Given the description of an element on the screen output the (x, y) to click on. 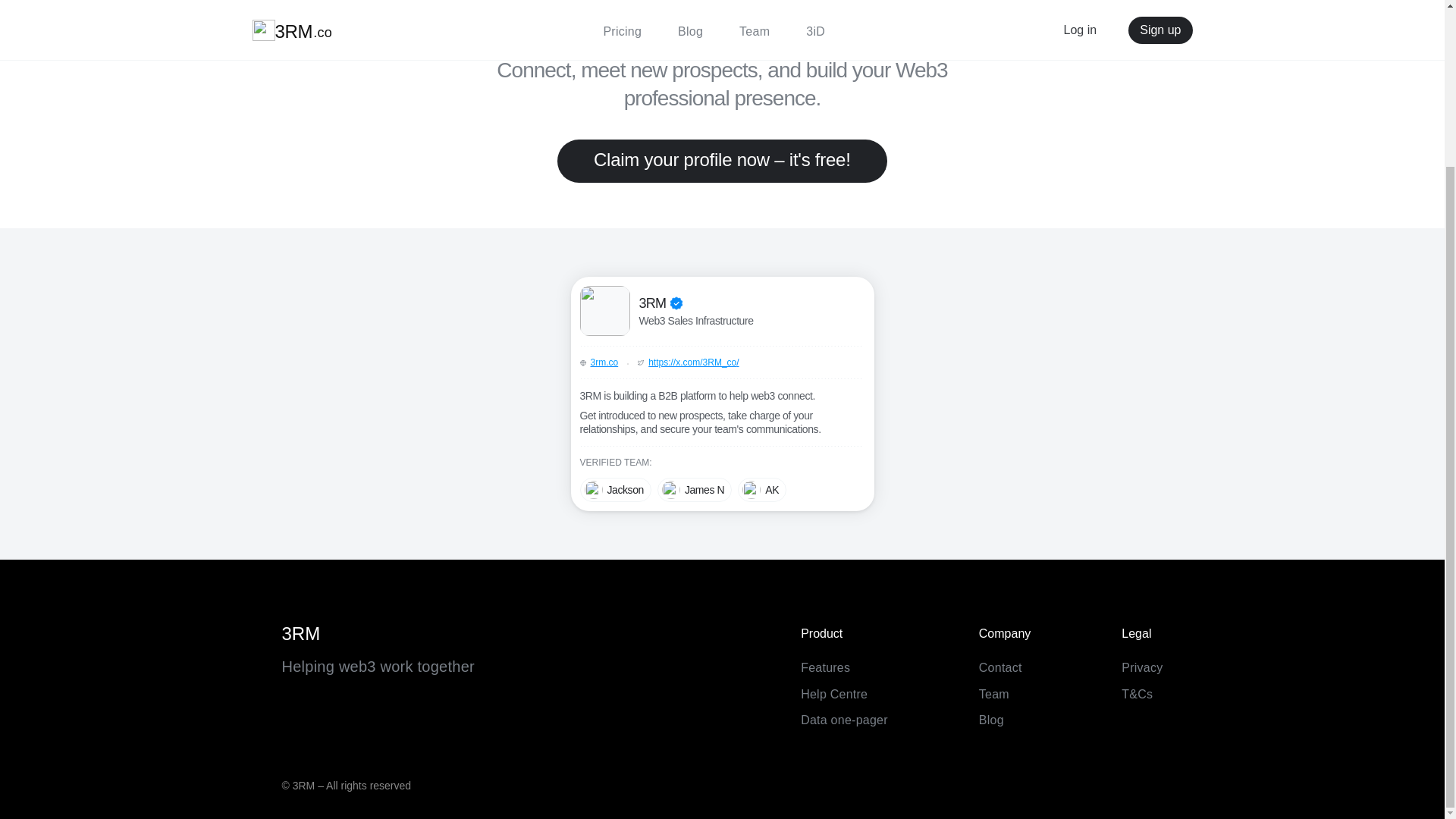
James N (695, 489)
Jackson (614, 489)
AK (762, 489)
3rm.co (603, 362)
